Given the description of an element on the screen output the (x, y) to click on. 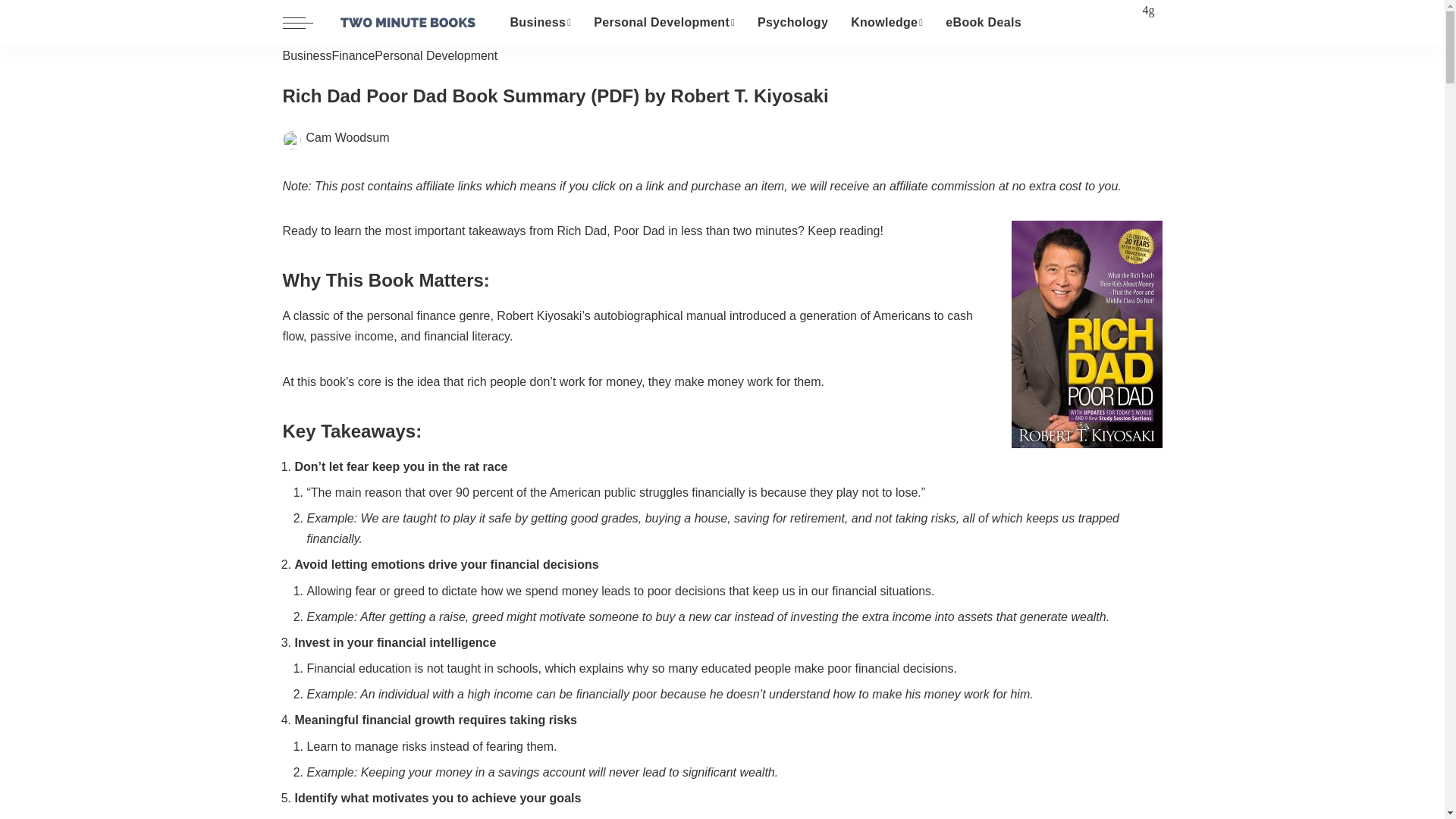
Personal Development (663, 22)
Business (541, 22)
Two Minute Books - Short, Actionable Book Summaries (406, 22)
